Given the description of an element on the screen output the (x, y) to click on. 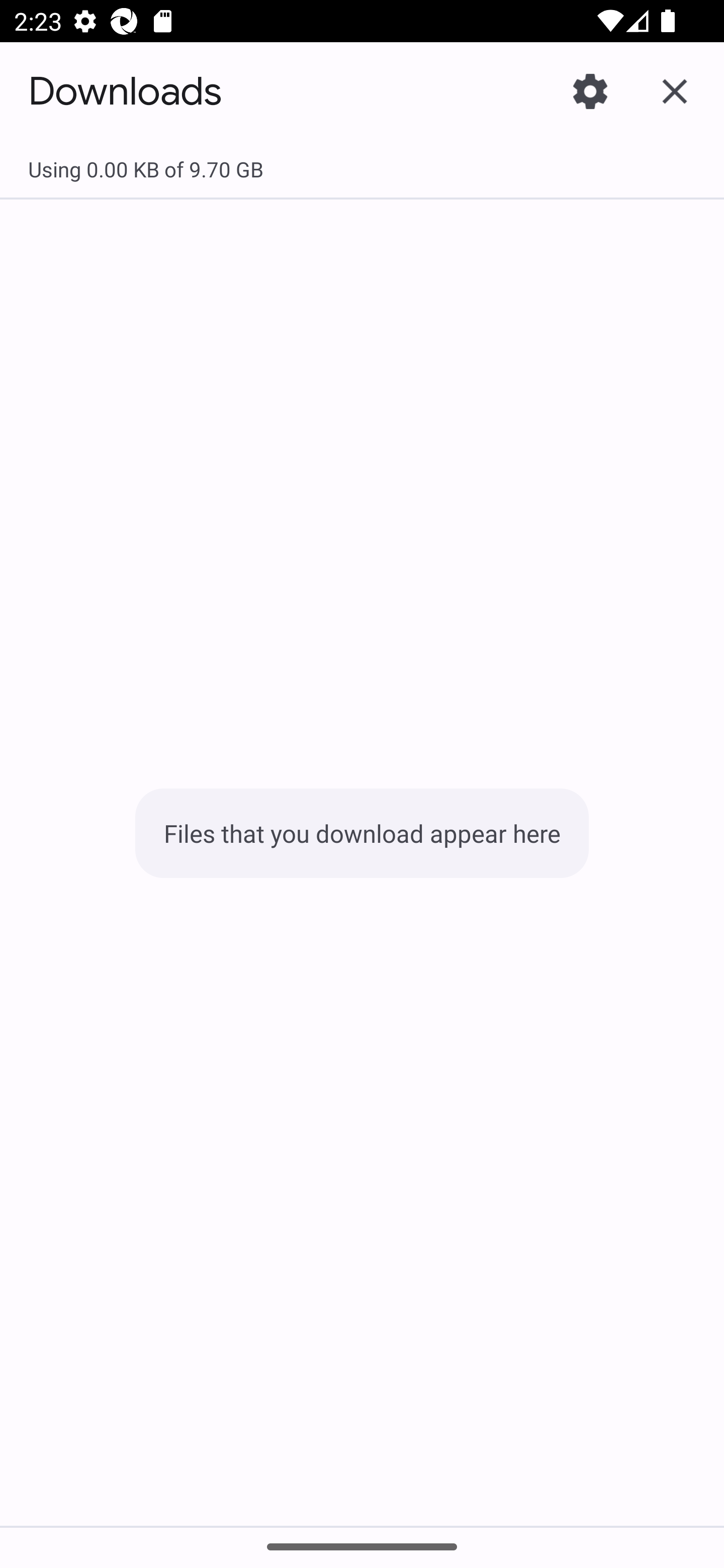
Settings (590, 90)
Close (674, 90)
